Given the description of an element on the screen output the (x, y) to click on. 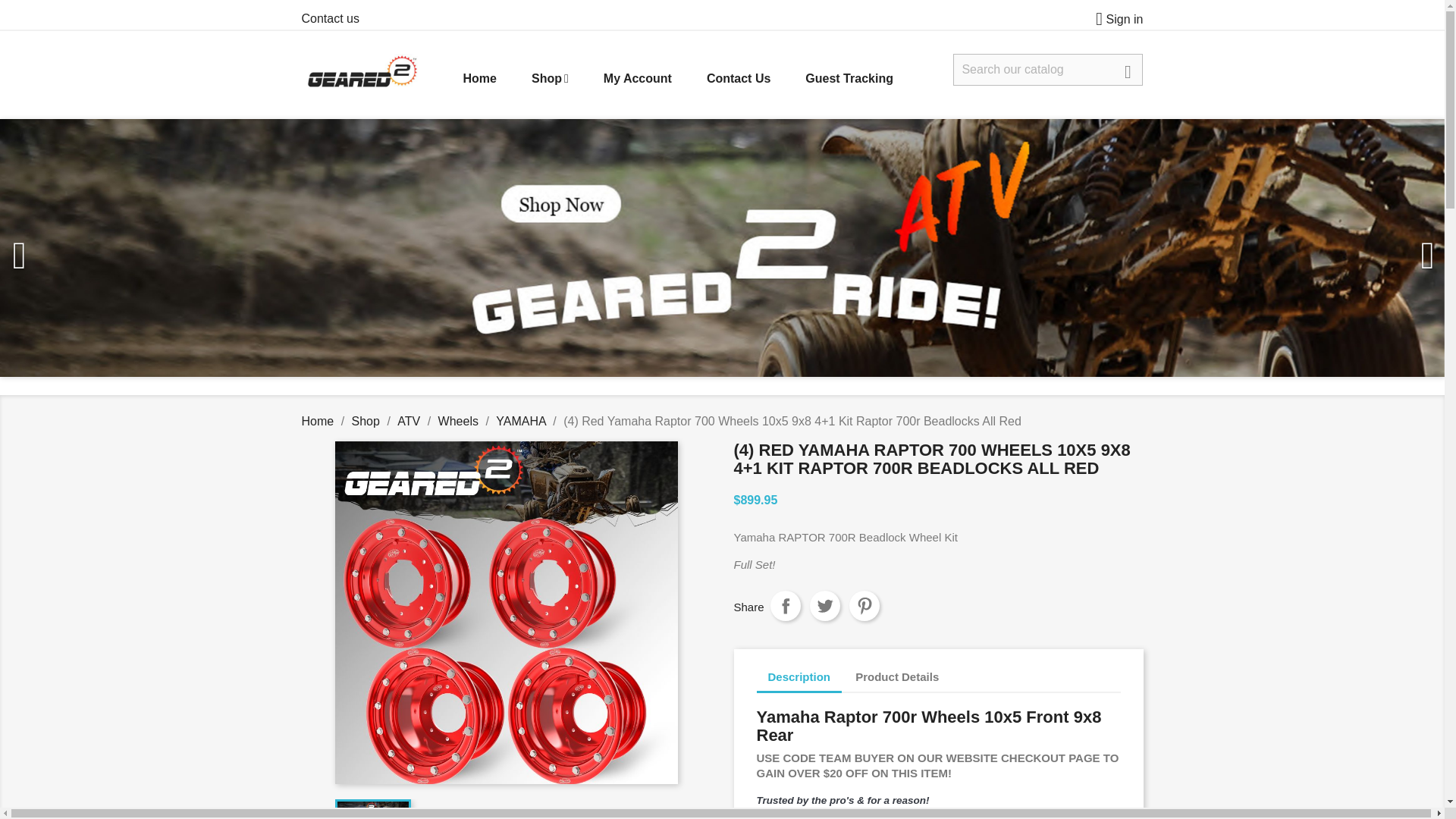
Pinterest (863, 605)
Share (785, 605)
Share (785, 605)
Home (478, 79)
Pinterest (863, 605)
Shop (549, 79)
Wheels (458, 420)
Shop (366, 420)
Guest Tracking (849, 79)
YAMAHA (521, 420)
Description (800, 678)
Log in to your customer account (1113, 19)
Product Details (897, 677)
Contact us (330, 18)
Contact Us (738, 79)
